Given the description of an element on the screen output the (x, y) to click on. 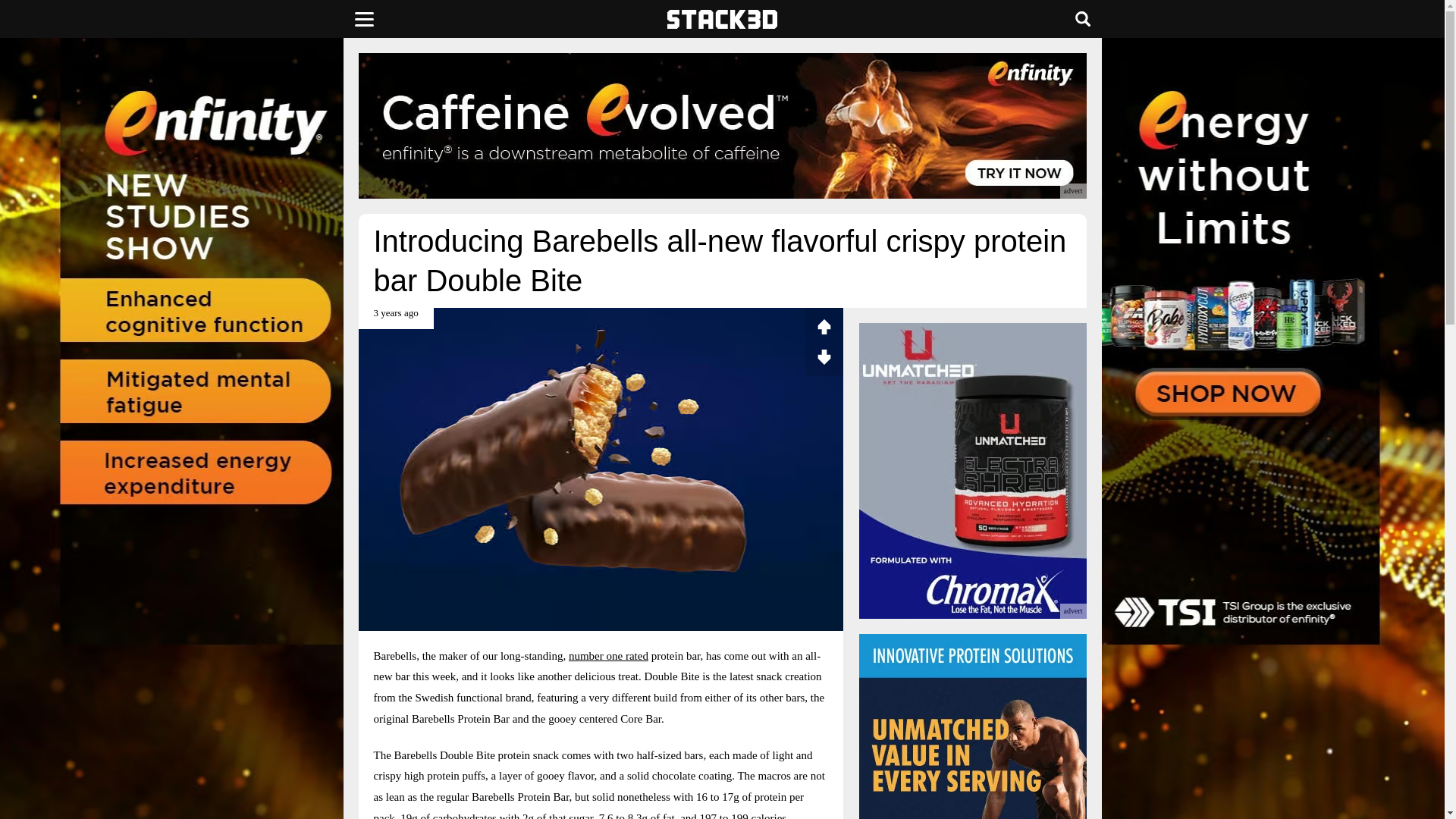
August 27th 2020 (395, 318)
number one rated (608, 655)
